Given the description of an element on the screen output the (x, y) to click on. 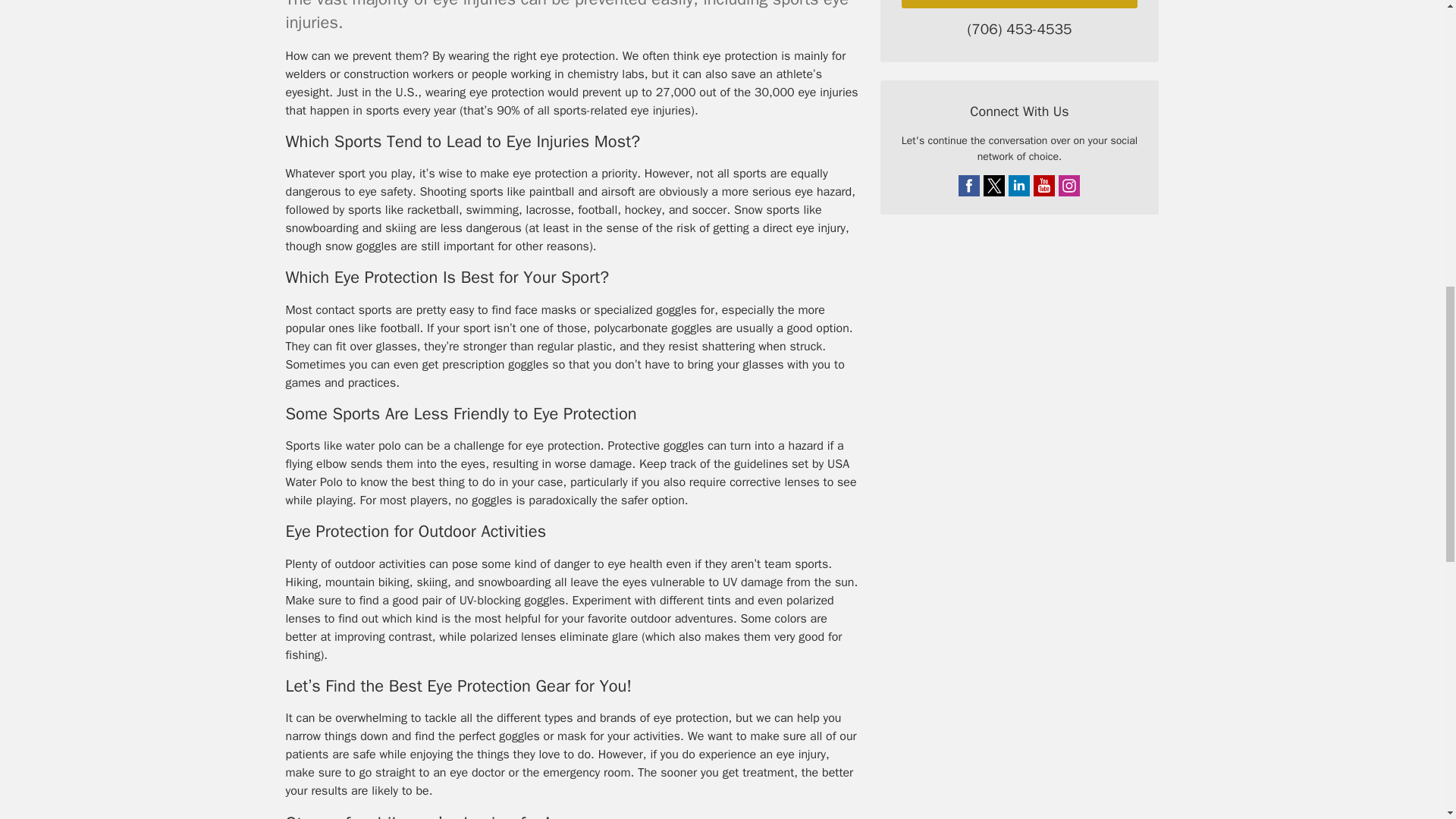
Go to our Twitter Account (994, 185)
Go to our Instagram Page (1069, 185)
Go to our LinkedIn Page (1019, 185)
Schedule Now (1019, 4)
Watch us on YouTube (1043, 185)
Go to our Facebook Page (968, 185)
Call practice (1018, 30)
